Given the description of an element on the screen output the (x, y) to click on. 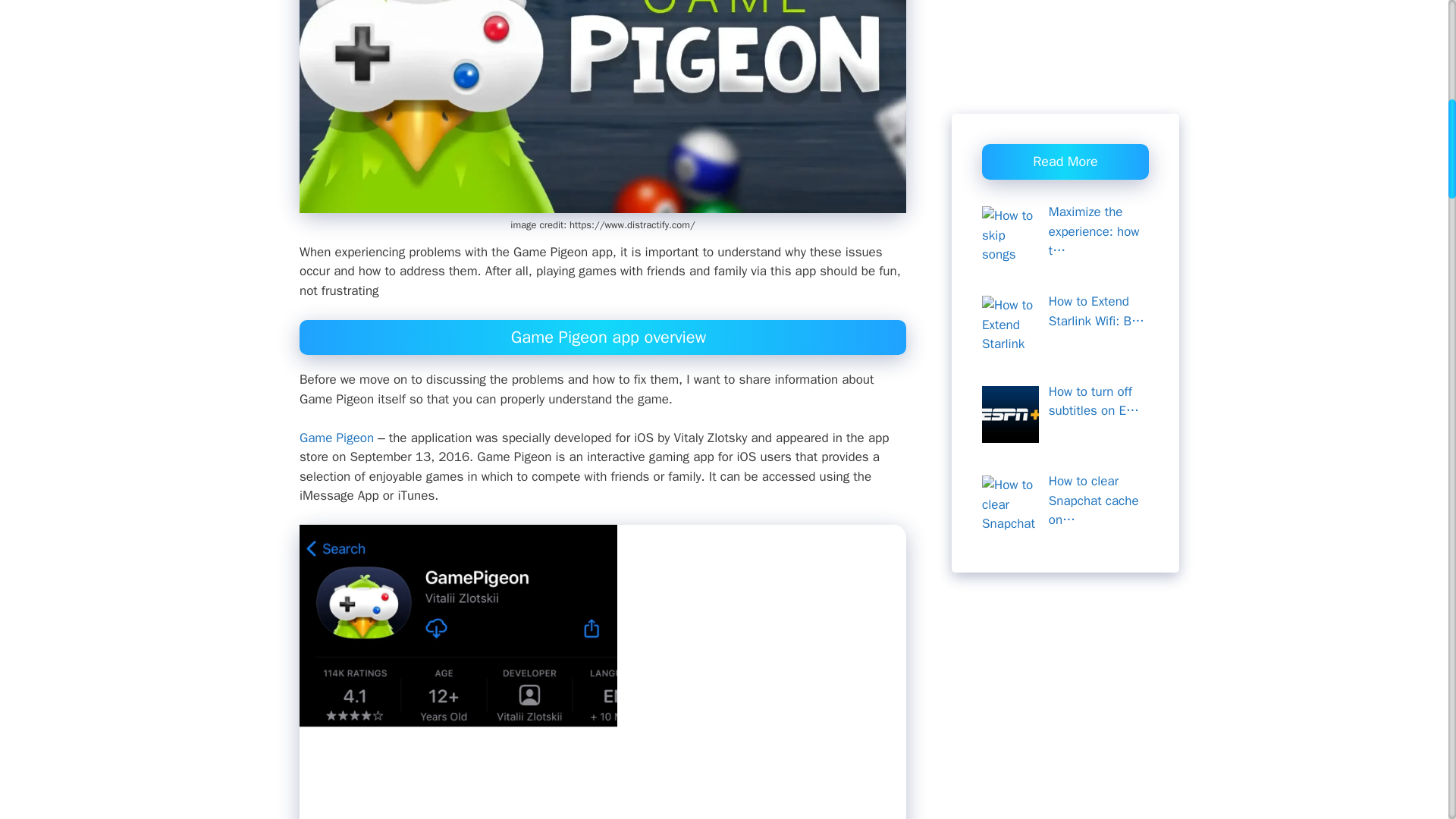
Game Pigeon (336, 437)
